Given the description of an element on the screen output the (x, y) to click on. 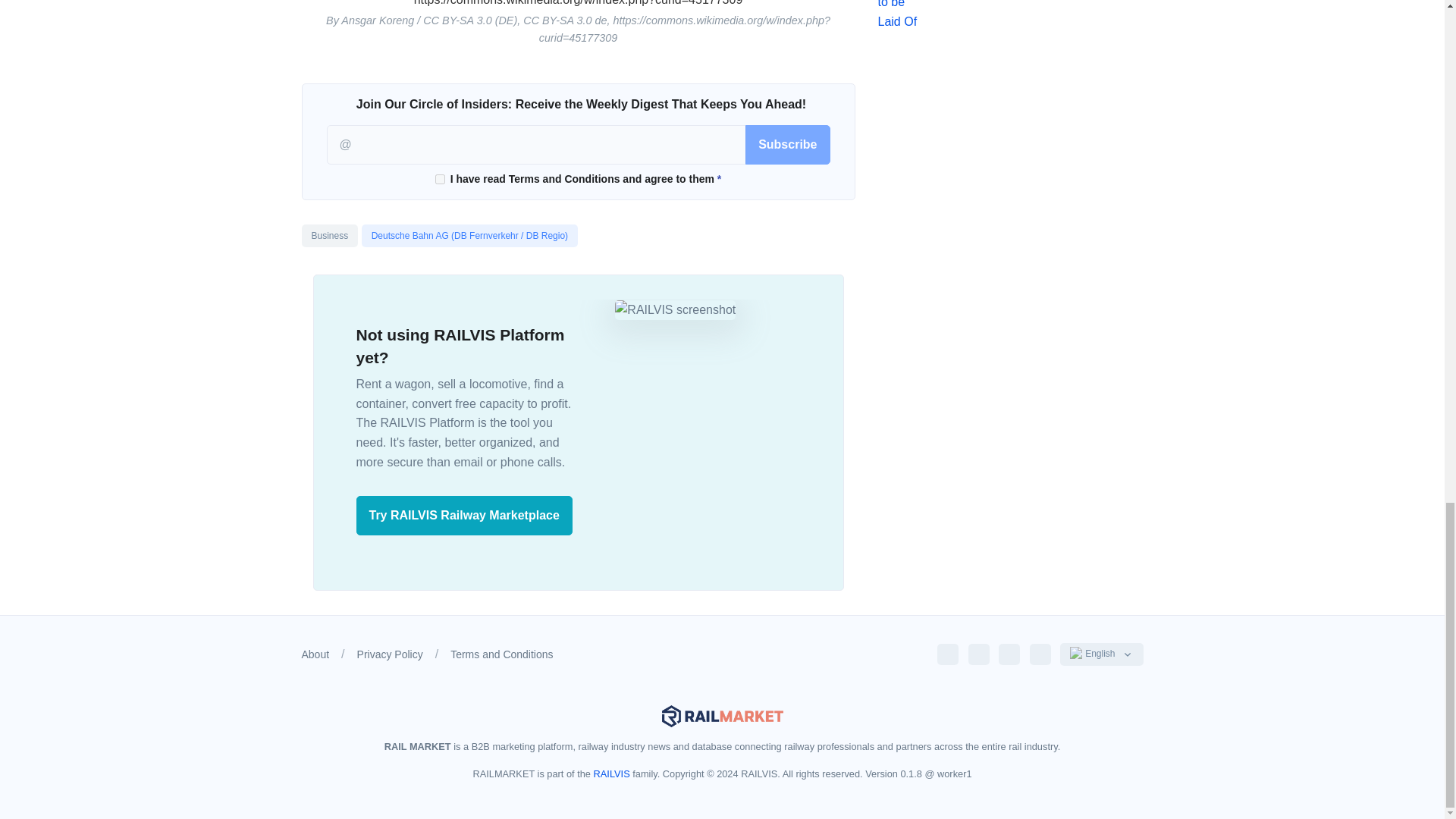
Business (329, 235)
Subscribe (787, 144)
Try RAILVIS Railway Marketplace (464, 515)
Subscribe (787, 144)
on (440, 179)
